Given the description of an element on the screen output the (x, y) to click on. 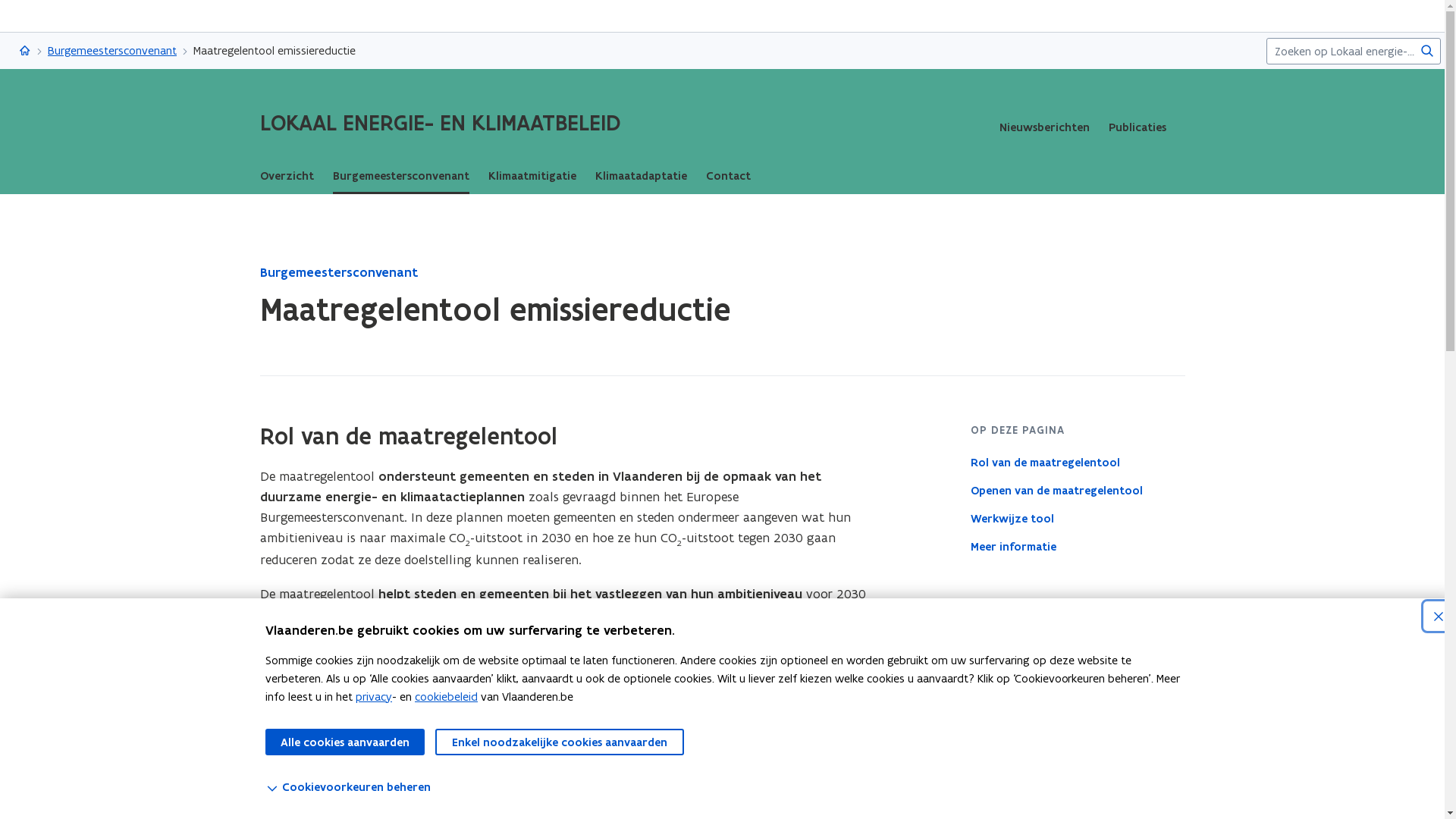
Klimaatmitigatie Element type: text (532, 176)
Overzicht Element type: text (286, 176)
Enkel noodzakelijke cookies aanvaarden Element type: text (559, 741)
Rol van de maatregelentool Element type: text (1077, 462)
Burgemeestersconvenant Element type: text (338, 272)
Openen van de maatregelentool Element type: text (1077, 490)
zoeken Element type: text (1427, 49)
Sluiten Element type: text (1437, 615)
Klimaatadaptatie Element type: text (640, 176)
Contact Element type: text (727, 176)
Publicaties Element type: text (1137, 127)
Meer informatie Element type: text (1077, 546)
Alle cookies aanvaarden Element type: text (344, 741)
Burgemeestersconvenant Element type: text (111, 50)
Cookievoorkeuren beheren Element type: text (727, 787)
Nieuwsberichten Element type: text (1044, 127)
Lokaal energie- en klimaatbeleid Element type: text (24, 50)
cookiebeleid Element type: text (445, 696)
Overslaan en naar de inhoud gaan Element type: text (729, 17)
LOKAAL ENERGIE- EN KLIMAATBELEID Element type: text (439, 122)
Burgemeestersconvenant Element type: text (400, 176)
Zoekterm Element type: hover (1353, 50)
privacy Element type: text (373, 696)
Werkwijze tool Element type: text (1077, 518)
